Given the description of an element on the screen output the (x, y) to click on. 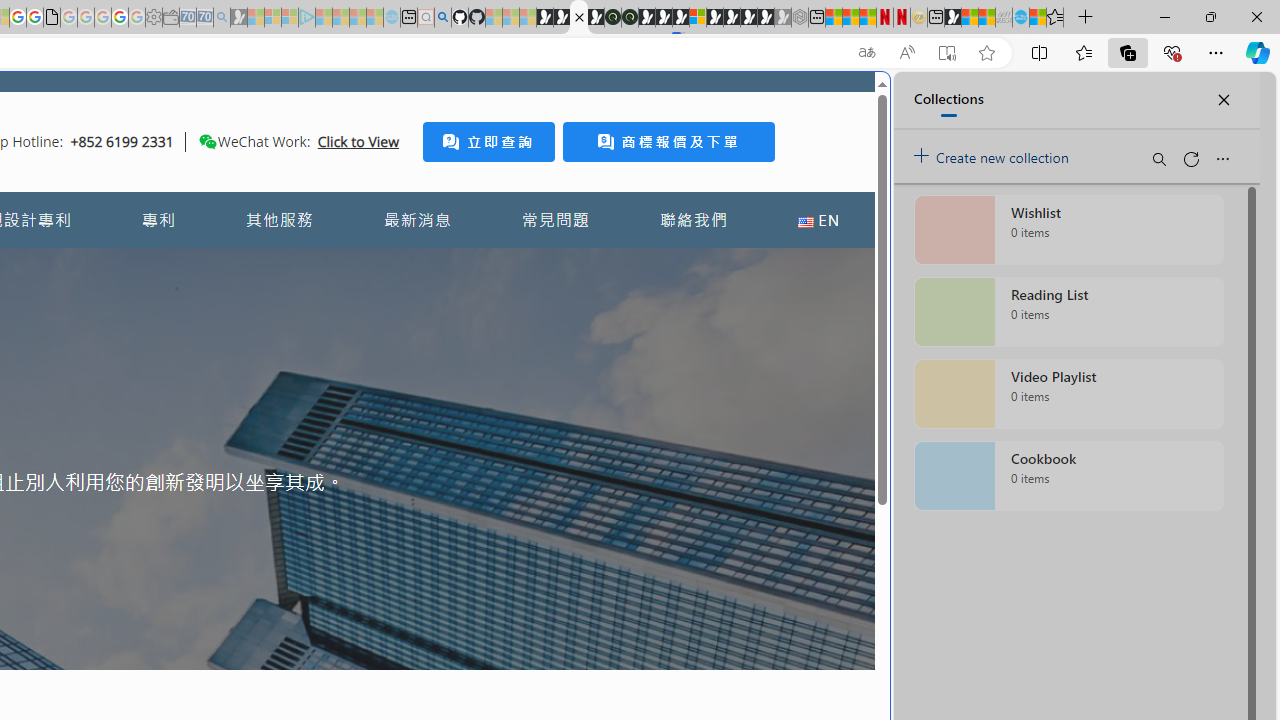
Close split screen (844, 102)
github - Search (442, 17)
Home | Sky Blue Bikes - Sky Blue Bikes - Sleeping (392, 17)
Bing Real Estate - Home sales and rental listings - Sleeping (221, 17)
EN (818, 220)
Settings - Sleeping (153, 17)
